Given the description of an element on the screen output the (x, y) to click on. 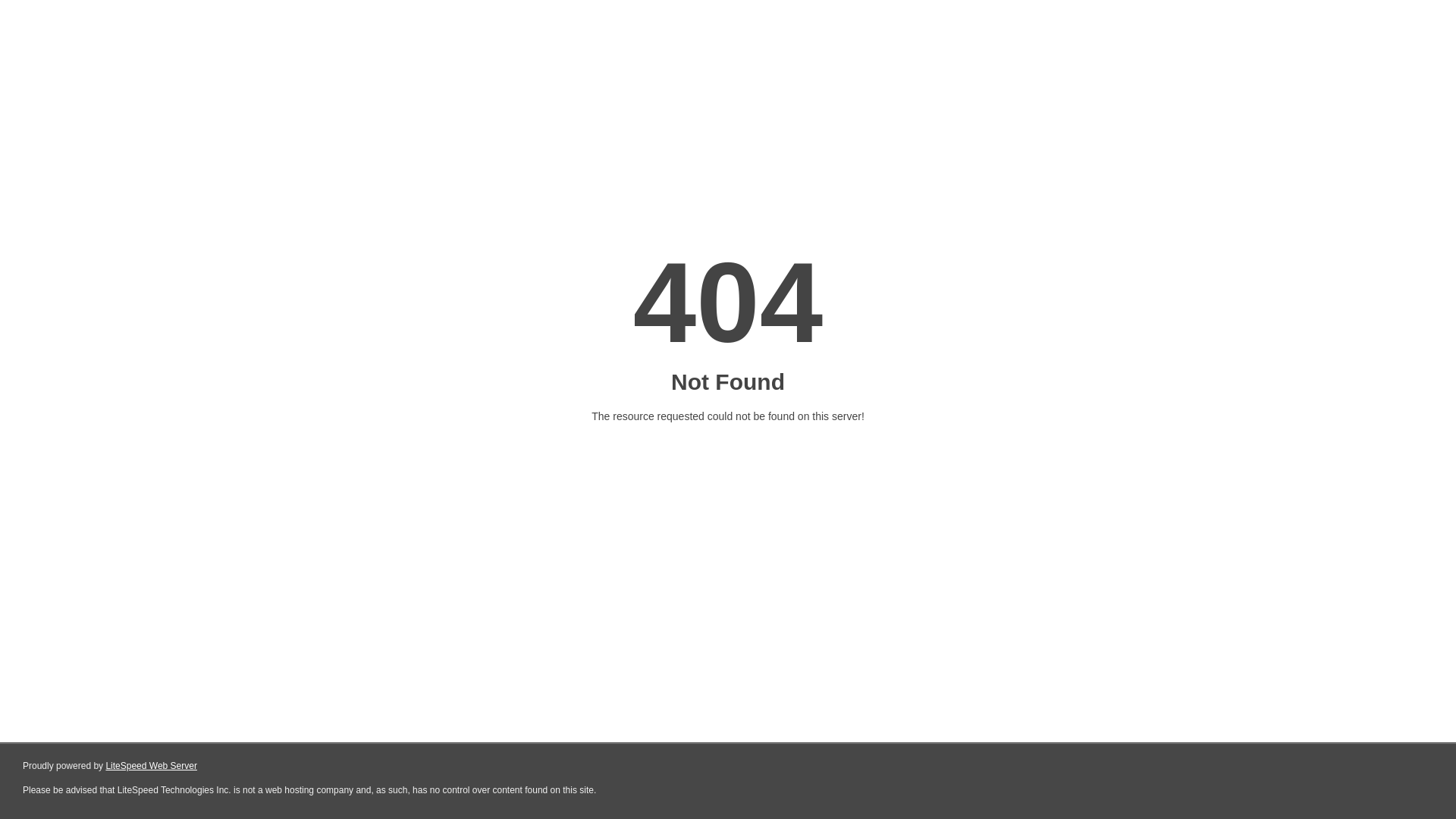
LiteSpeed Web Server Element type: text (151, 765)
